Given the description of an element on the screen output the (x, y) to click on. 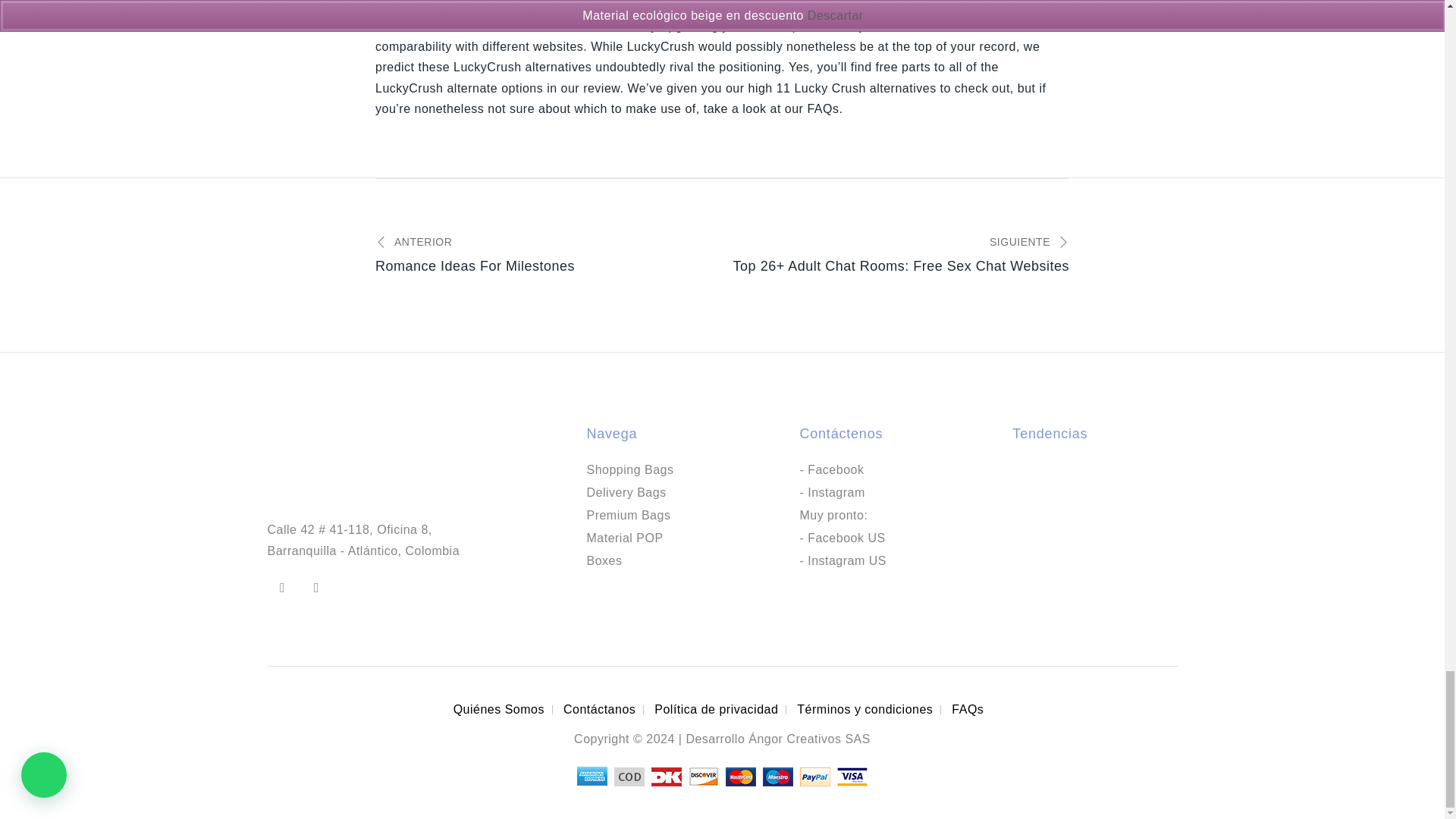
Facebook (282, 587)
Instagram (315, 587)
